Given the description of an element on the screen output the (x, y) to click on. 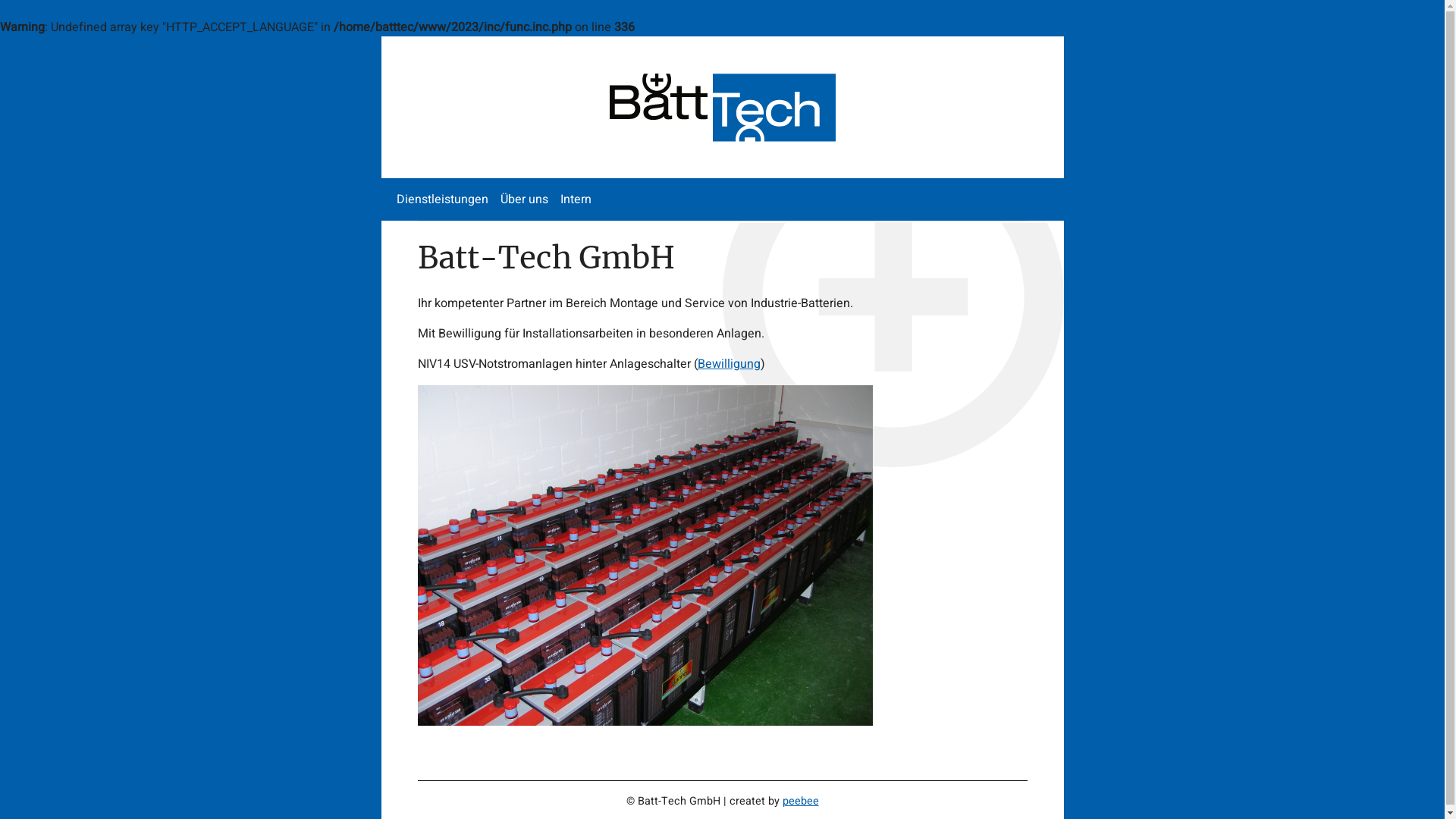
Intern Element type: text (574, 199)
Dienstleistungen Element type: text (441, 199)
Bewilligung Element type: text (728, 363)
Startseite Element type: hover (721, 106)
peebee Element type: text (800, 801)
